Given the description of an element on the screen output the (x, y) to click on. 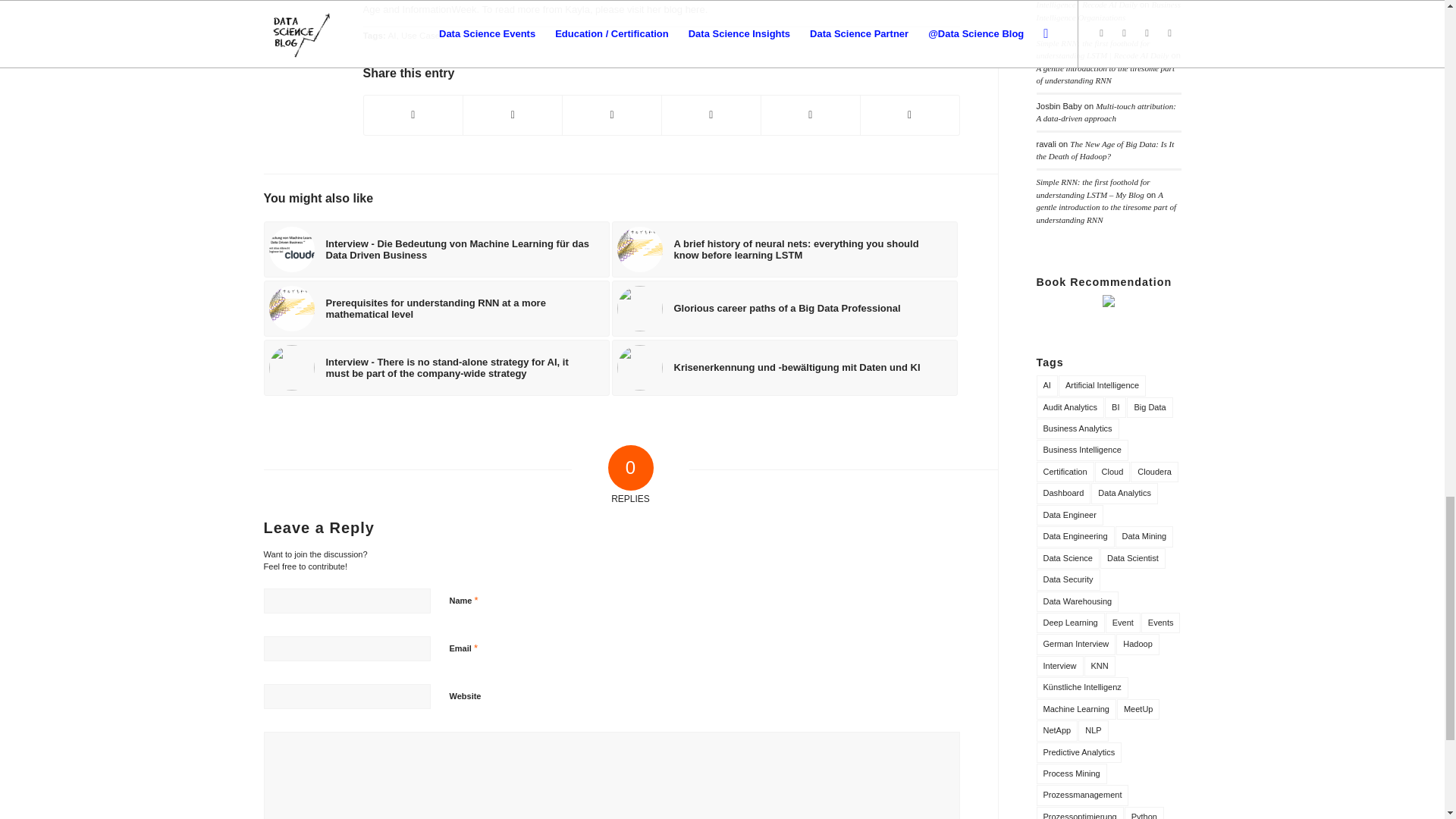
Use Cases (422, 35)
